Given the description of an element on the screen output the (x, y) to click on. 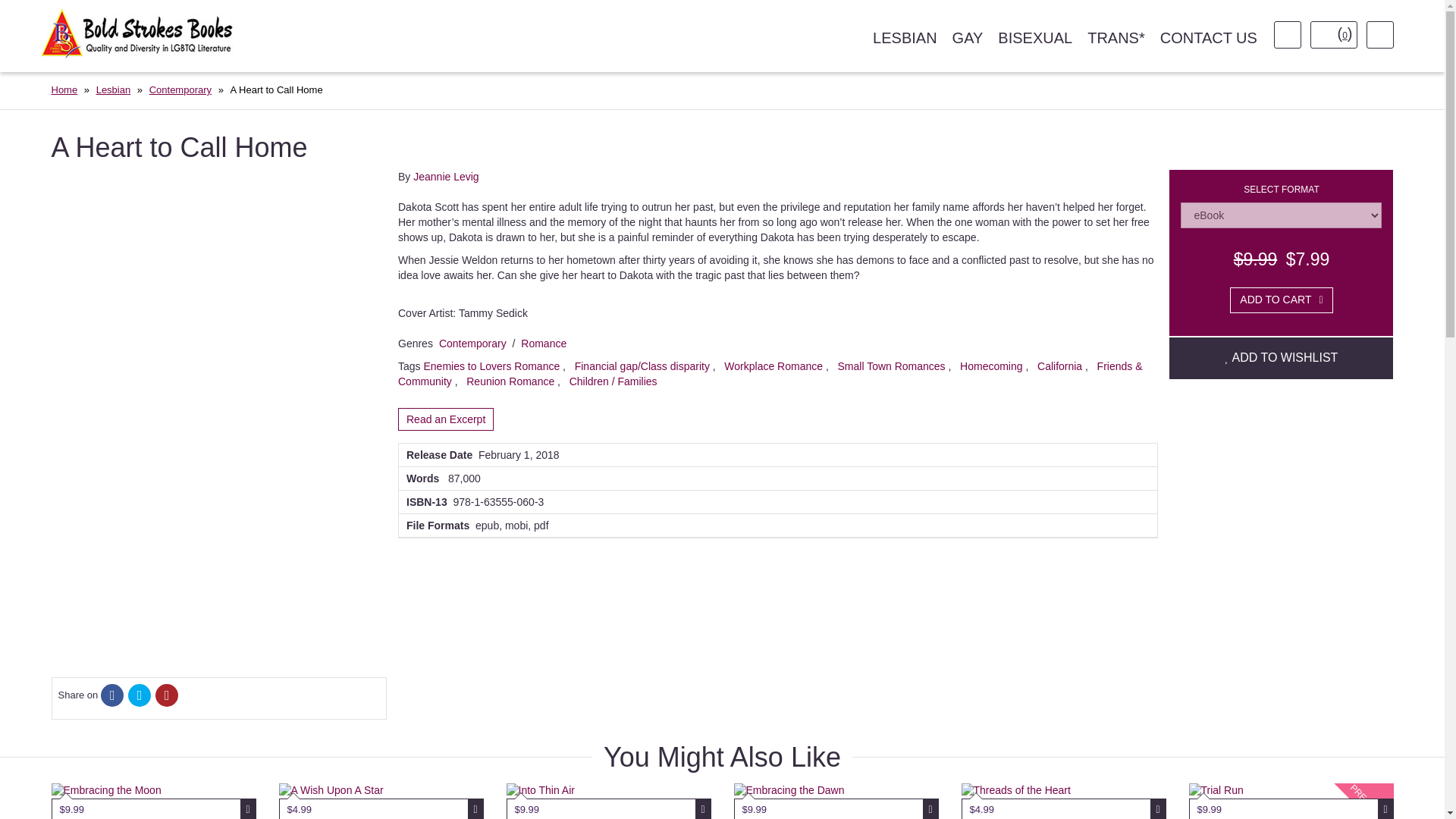
Contemporary (472, 343)
Lesbian (113, 89)
GAY (967, 37)
Facebook (111, 695)
Pinterest (166, 695)
Contemporary (180, 89)
Jeannie Levig (446, 176)
Twitter (139, 695)
BISEXUAL (1035, 37)
Romance (543, 343)
Workplace Romance (772, 366)
Homecoming (992, 366)
California (1060, 366)
Small Town Romances (890, 366)
LESBIAN (903, 37)
